Given the description of an element on the screen output the (x, y) to click on. 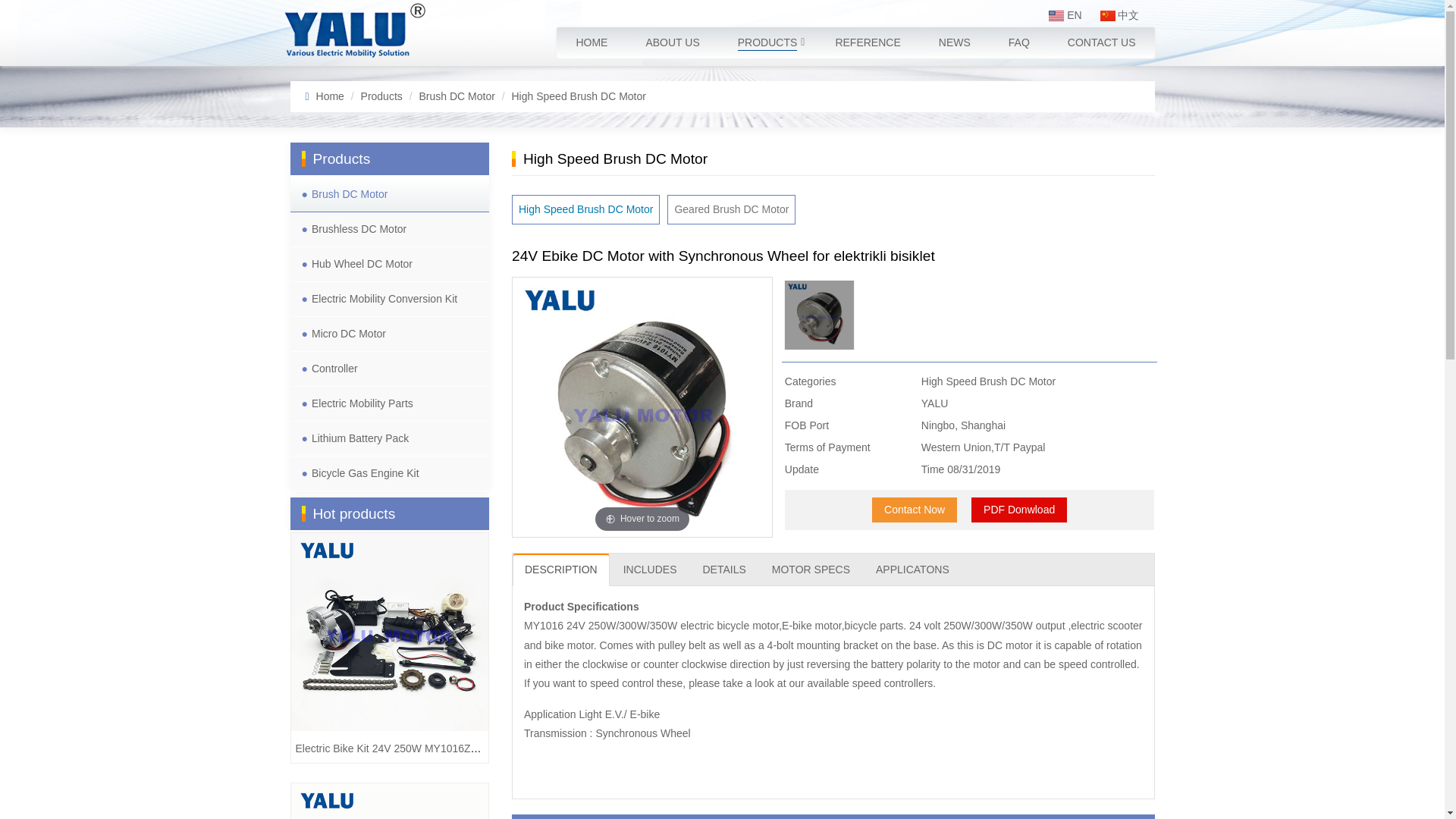
EN (1064, 15)
PRODUCTS (767, 42)
HOME (591, 42)
ABOUT US (671, 42)
